Given the description of an element on the screen output the (x, y) to click on. 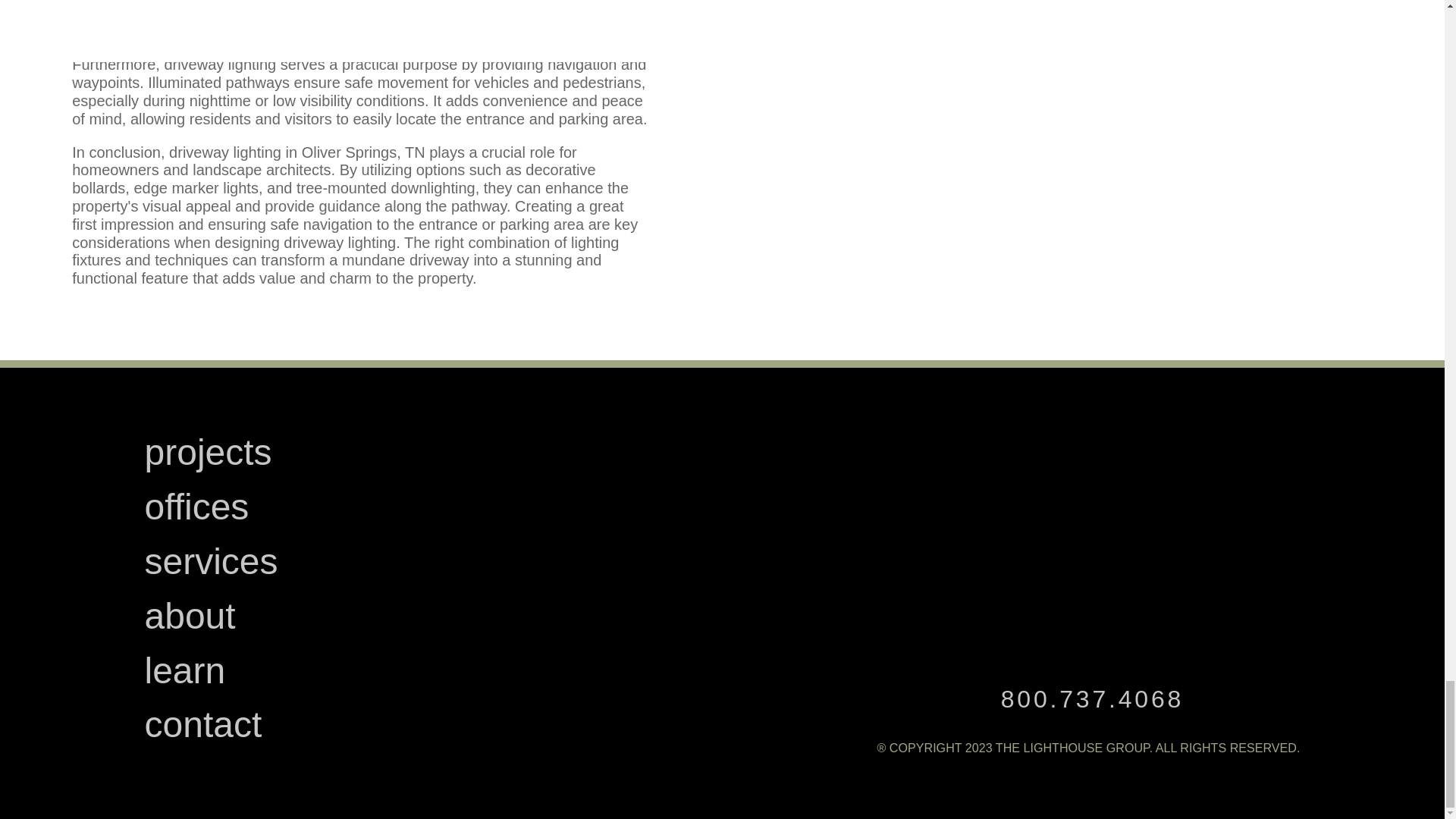
TLG Logo with name 650px gold (1088, 516)
Lighthouse logo pair gold (1100, 637)
